Given the description of an element on the screen output the (x, y) to click on. 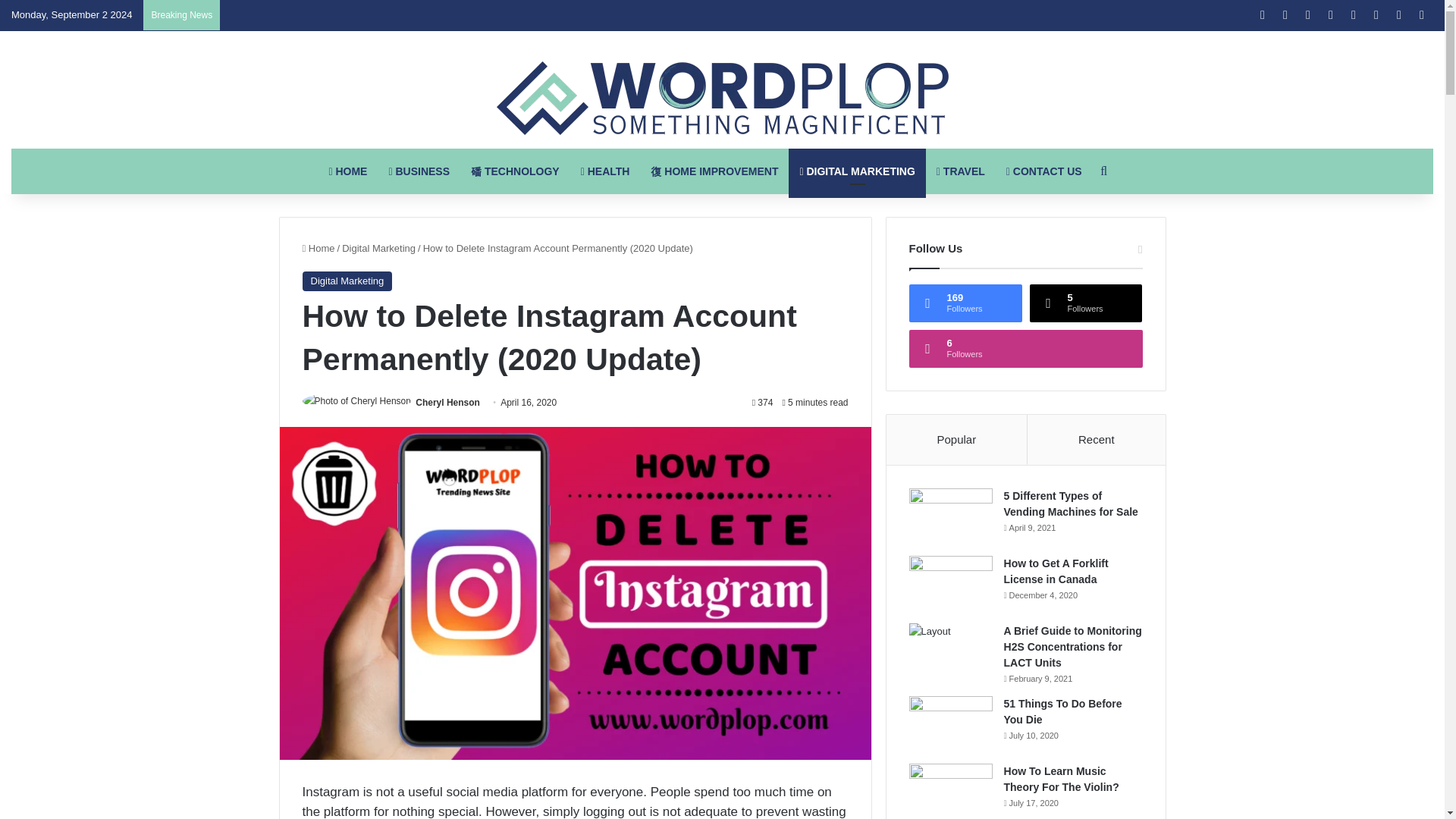
BUSINESS (418, 171)
TECHNOLOGY (515, 171)
TRAVEL (960, 171)
WordPlop (722, 98)
HOME (347, 171)
DIGITAL MARKETING (856, 171)
HOME IMPROVEMENT (714, 171)
Cheryl Henson (447, 402)
HEALTH (605, 171)
Digital Marketing (346, 281)
